Given the description of an element on the screen output the (x, y) to click on. 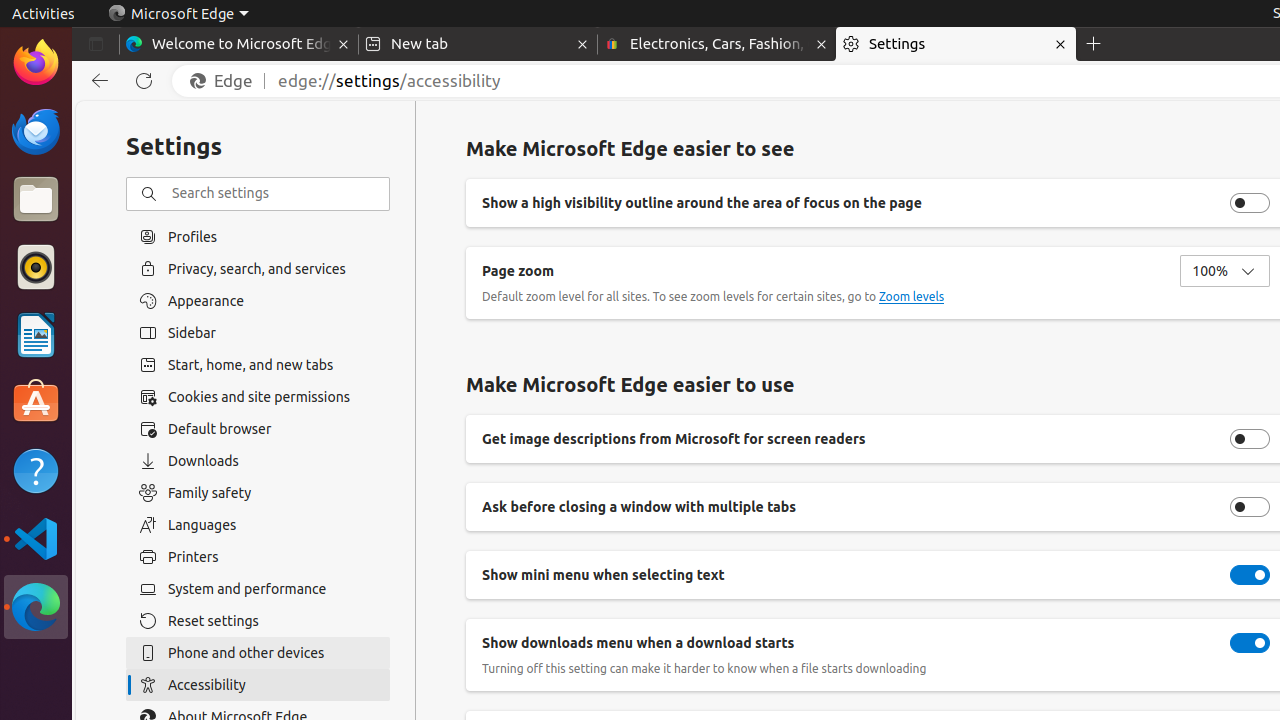
Show a high visibility outline around the area of focus on the page Element type: check-box (1250, 203)
